Given the description of an element on the screen output the (x, y) to click on. 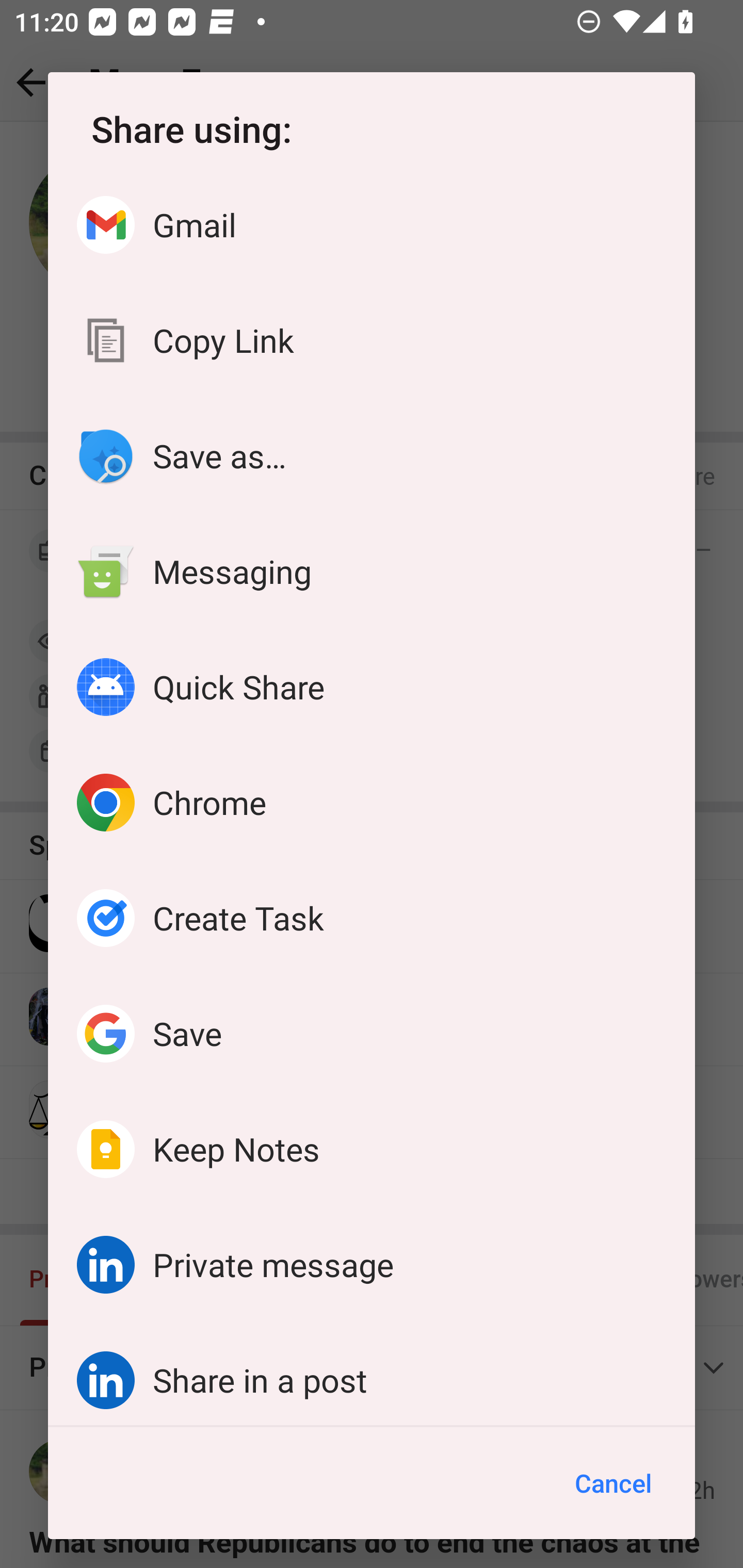
Gmail (371, 224)
Copy Link (371, 340)
Save as… (371, 456)
Messaging (371, 571)
Quick Share (371, 686)
Chrome (371, 802)
Create Task (371, 917)
Save (371, 1033)
Keep Notes (371, 1149)
Private message (371, 1264)
Share in a post (371, 1373)
Cancel (612, 1482)
